Given the description of an element on the screen output the (x, y) to click on. 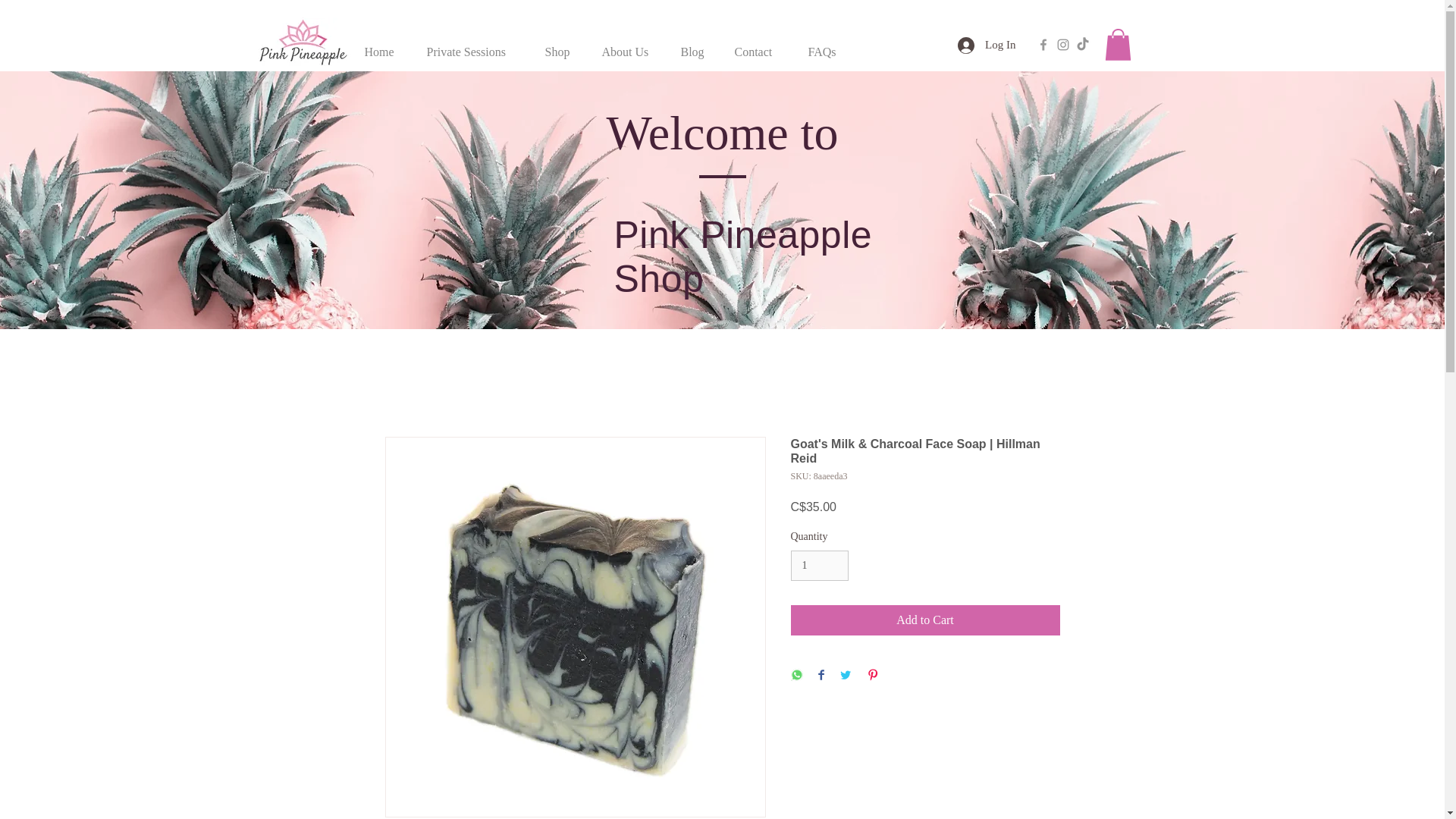
Add to Cart (924, 620)
Home (381, 44)
Log In (986, 45)
Blog (693, 44)
Shop (559, 44)
FAQs (822, 44)
About Us (627, 44)
Private Sessions (471, 44)
Contact (756, 44)
1 (818, 565)
